Given the description of an element on the screen output the (x, y) to click on. 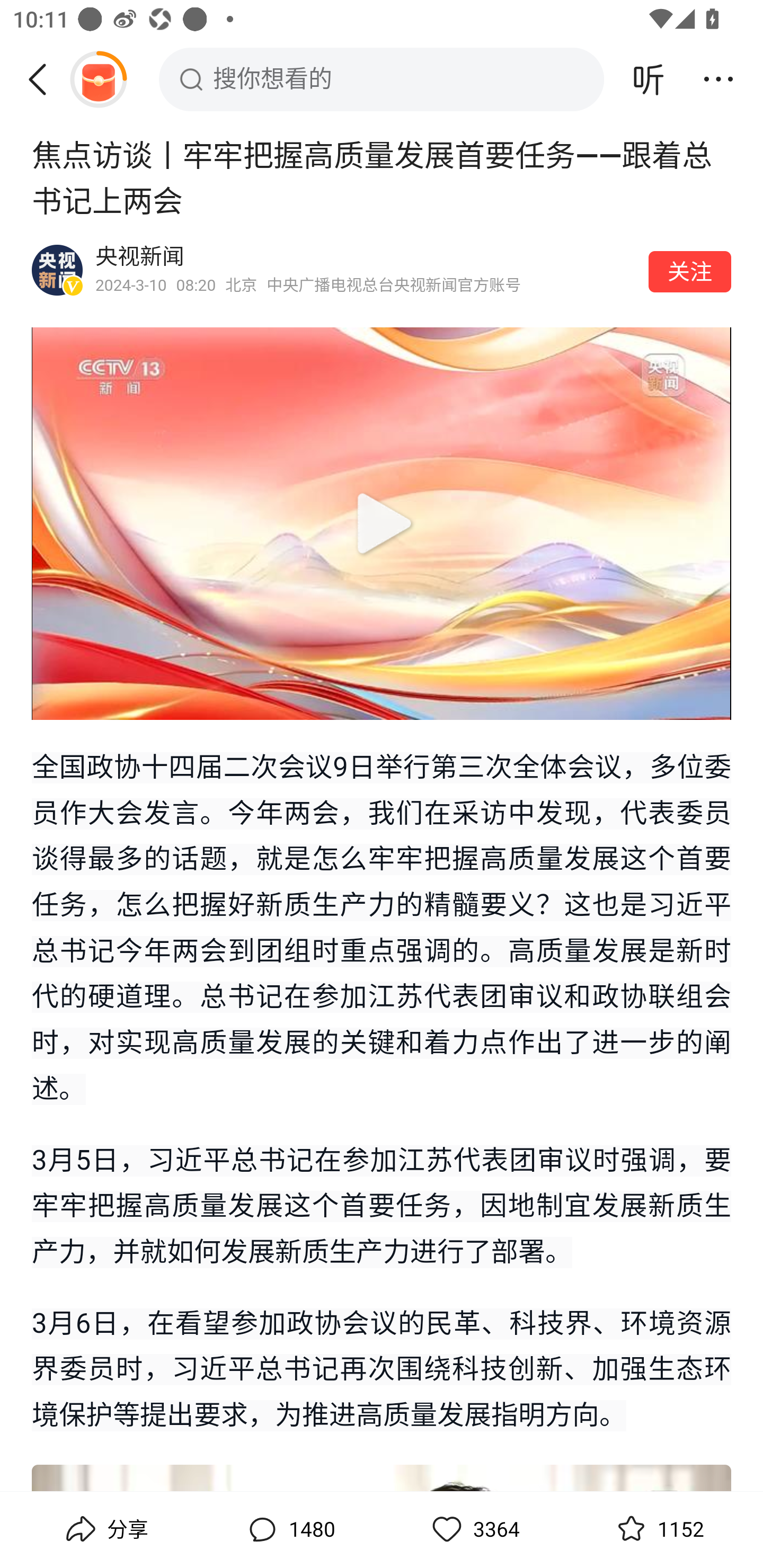
返回 (44, 78)
听头条 (648, 78)
更多操作 (718, 78)
搜你想看的 搜索框，搜你想看的 (381, 79)
阅读赚金币 (98, 79)
作者：央视新闻，简介：中央广播电视总台央视新闻官方账号，2024-3-10 08:20发布，北京 (365, 270)
关注作者 (689, 270)
播放视频 (381, 523)
播放视频 (381, 522)
分享 (104, 1529)
评论,1480 1480 (288, 1529)
收藏,1152 1152 (658, 1529)
